Given the description of an element on the screen output the (x, y) to click on. 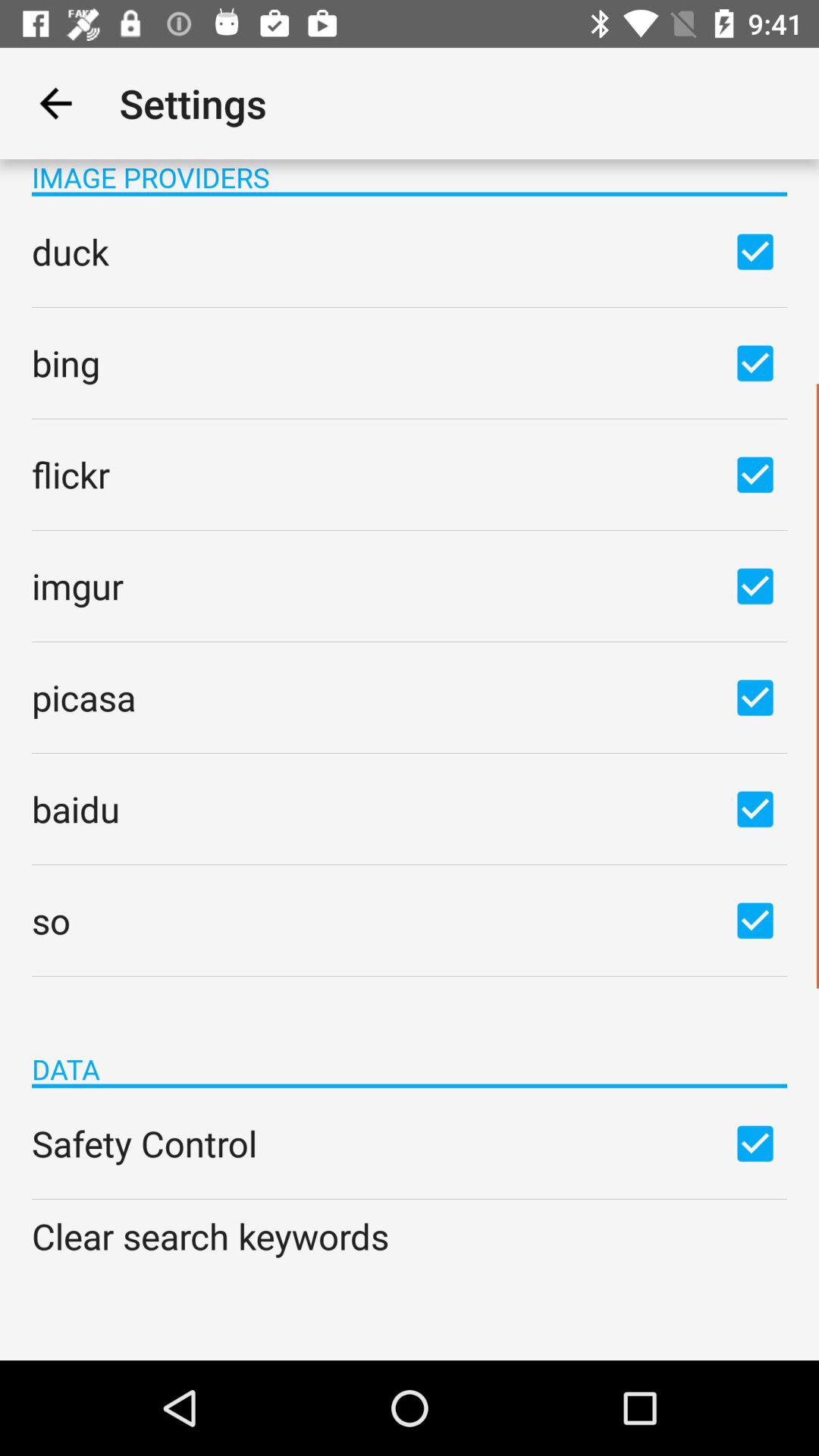
enable disable option (755, 362)
